Given the description of an element on the screen output the (x, y) to click on. 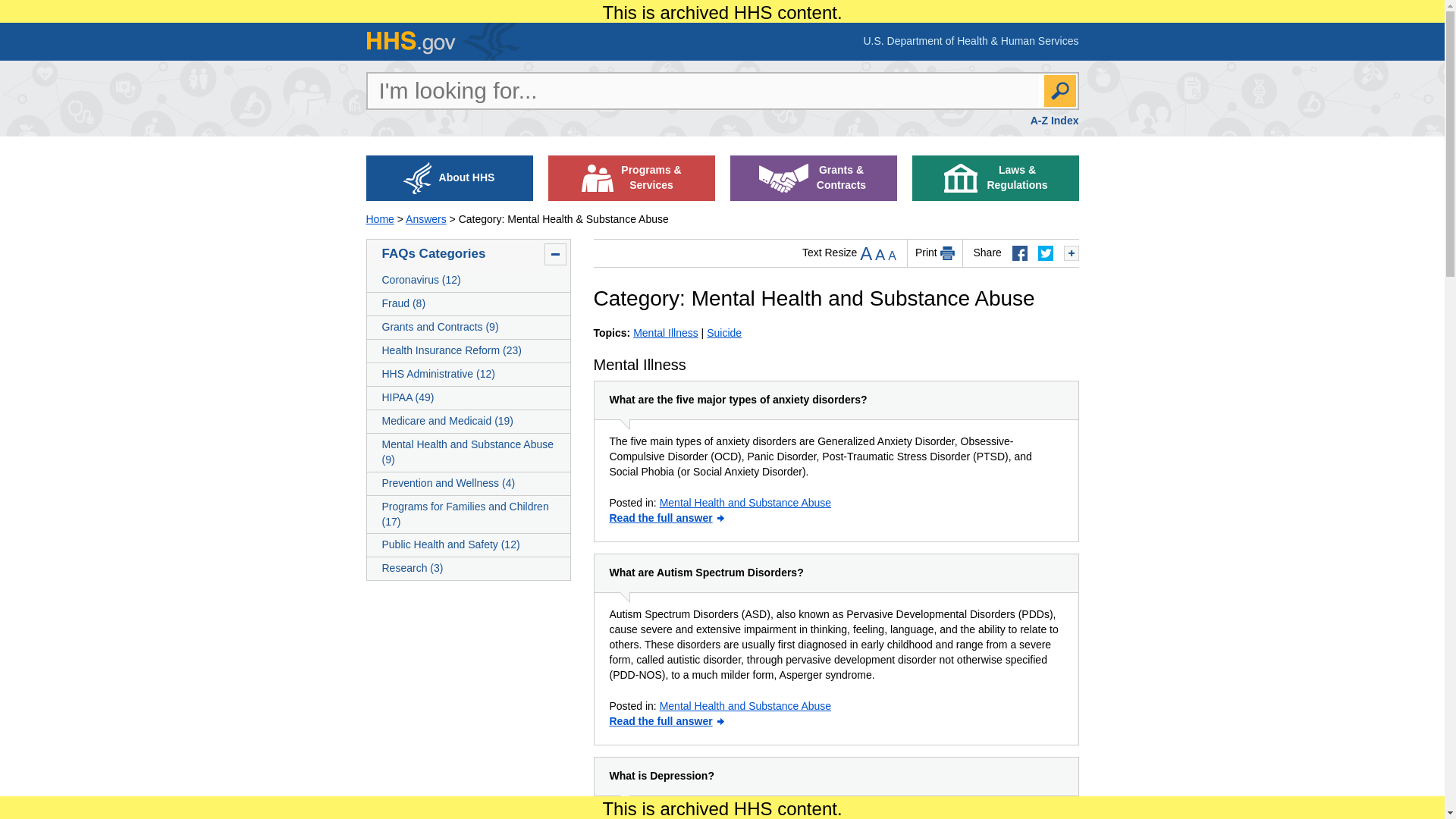
Search (1059, 91)
Home (379, 218)
About HHS (448, 177)
Search Text (702, 90)
A-Z Index (1054, 120)
HHS (442, 41)
Search (1059, 91)
Facebook (1019, 253)
